Given the description of an element on the screen output the (x, y) to click on. 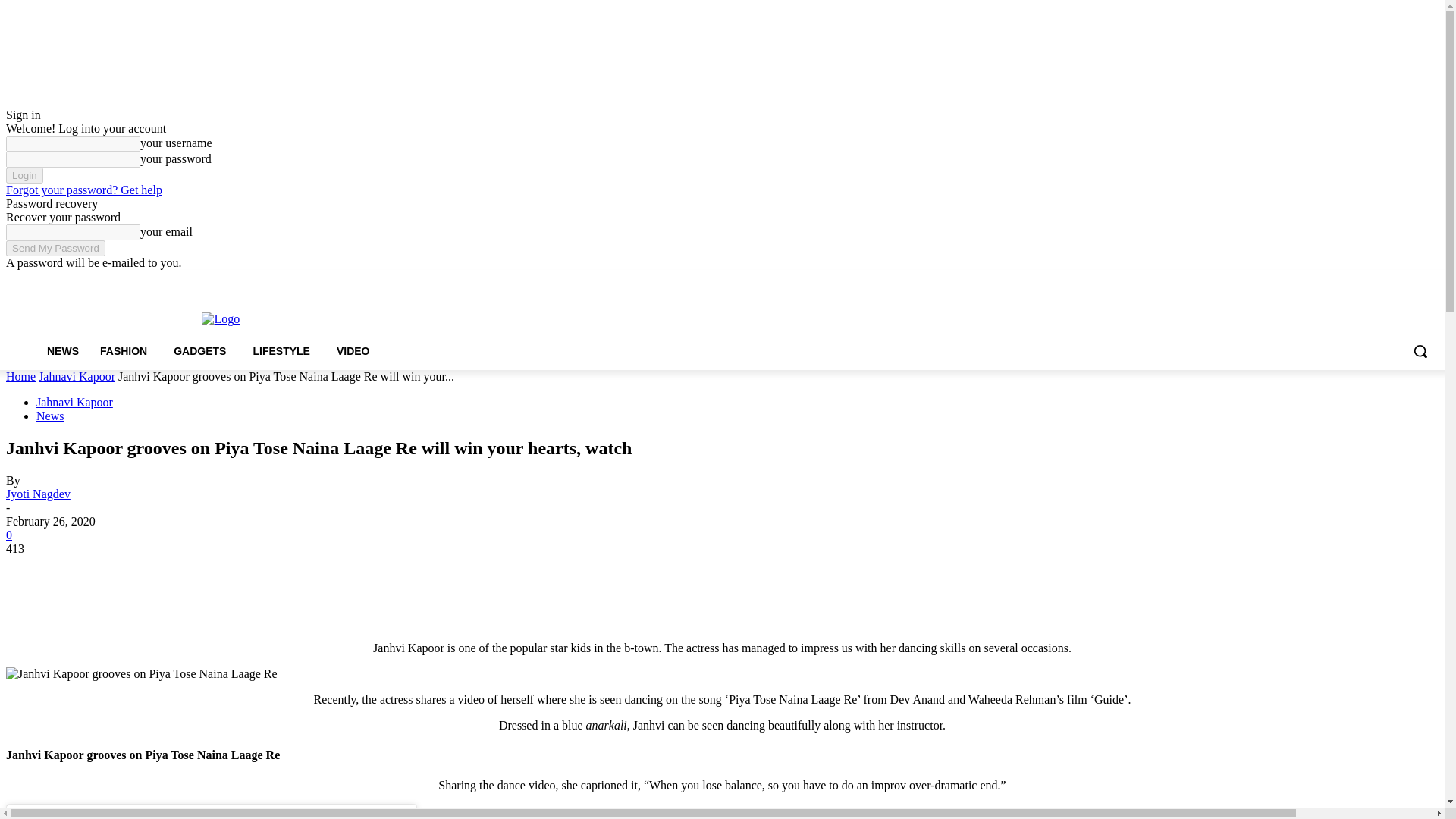
Youtube (1429, 280)
GADGETS (202, 351)
Instagram (1366, 280)
Login (24, 175)
Forgot your password? Get help (83, 189)
Buy now! (229, 280)
Vimeo (1407, 280)
Facebook (1345, 280)
LIFESTYLE (282, 351)
VIDEO (355, 351)
